Given the description of an element on the screen output the (x, y) to click on. 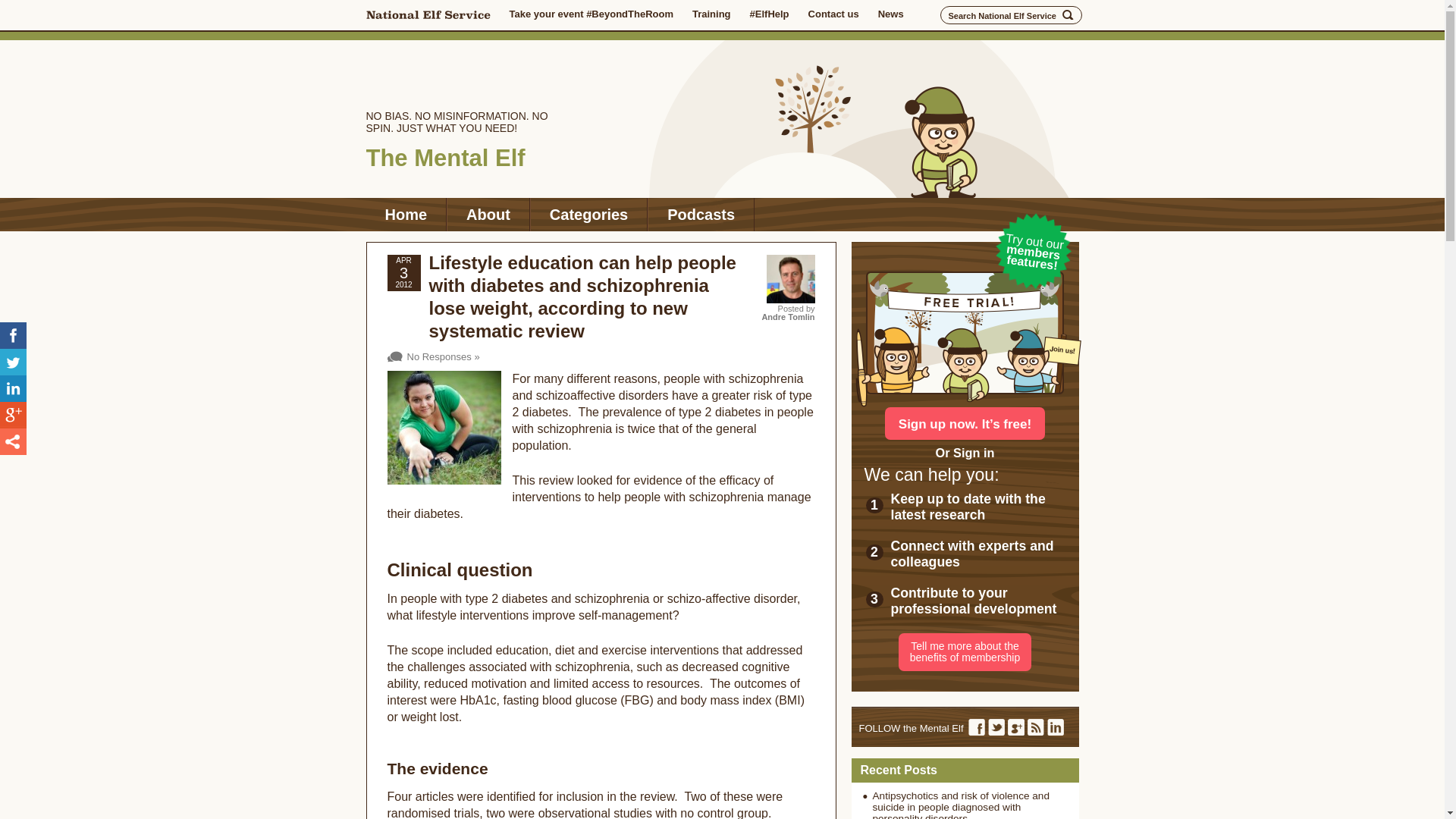
Home (405, 214)
Search (1068, 14)
About (487, 214)
Share via sharethis (13, 441)
News (890, 13)
Posts by Andre Tomlin (787, 316)
Share on Facebook (13, 335)
Contact us (833, 13)
Search (1068, 14)
Training (711, 13)
Share on LinkedIn (13, 388)
Categories (588, 214)
Tweet this on Twitter (13, 361)
